Given the description of an element on the screen output the (x, y) to click on. 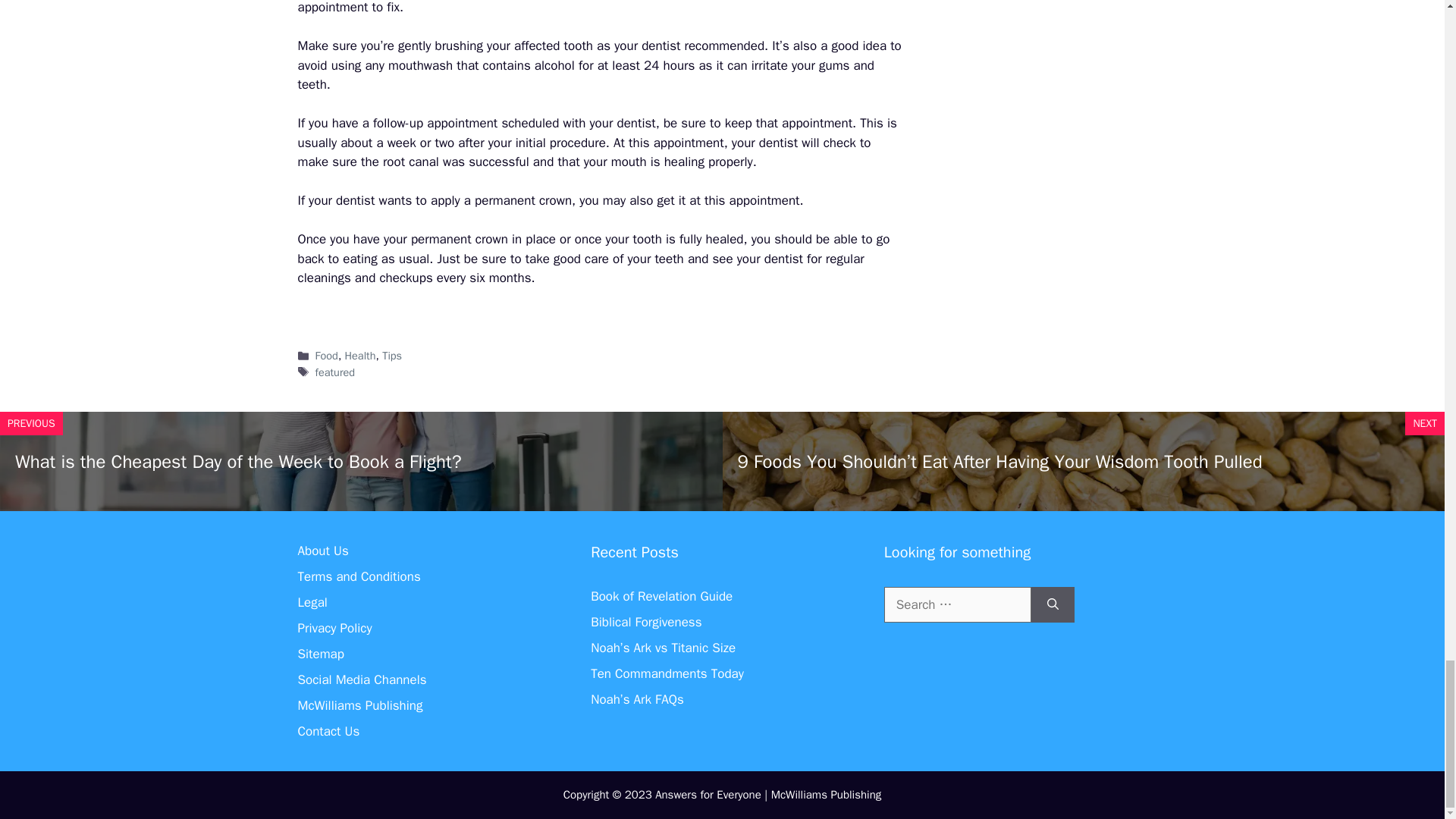
Terms and Conditions (358, 576)
Health (360, 355)
Tips (391, 355)
Social Media Channels (361, 679)
McWilliams Publishing (359, 705)
Search for: (956, 605)
Privacy Policy (334, 627)
Food (326, 355)
Contact Us (328, 731)
What is the Cheapest Day of the Week to Book a Flight? (237, 461)
Sitemap (320, 653)
featured (335, 372)
About Us (322, 550)
Legal (311, 602)
